Given the description of an element on the screen output the (x, y) to click on. 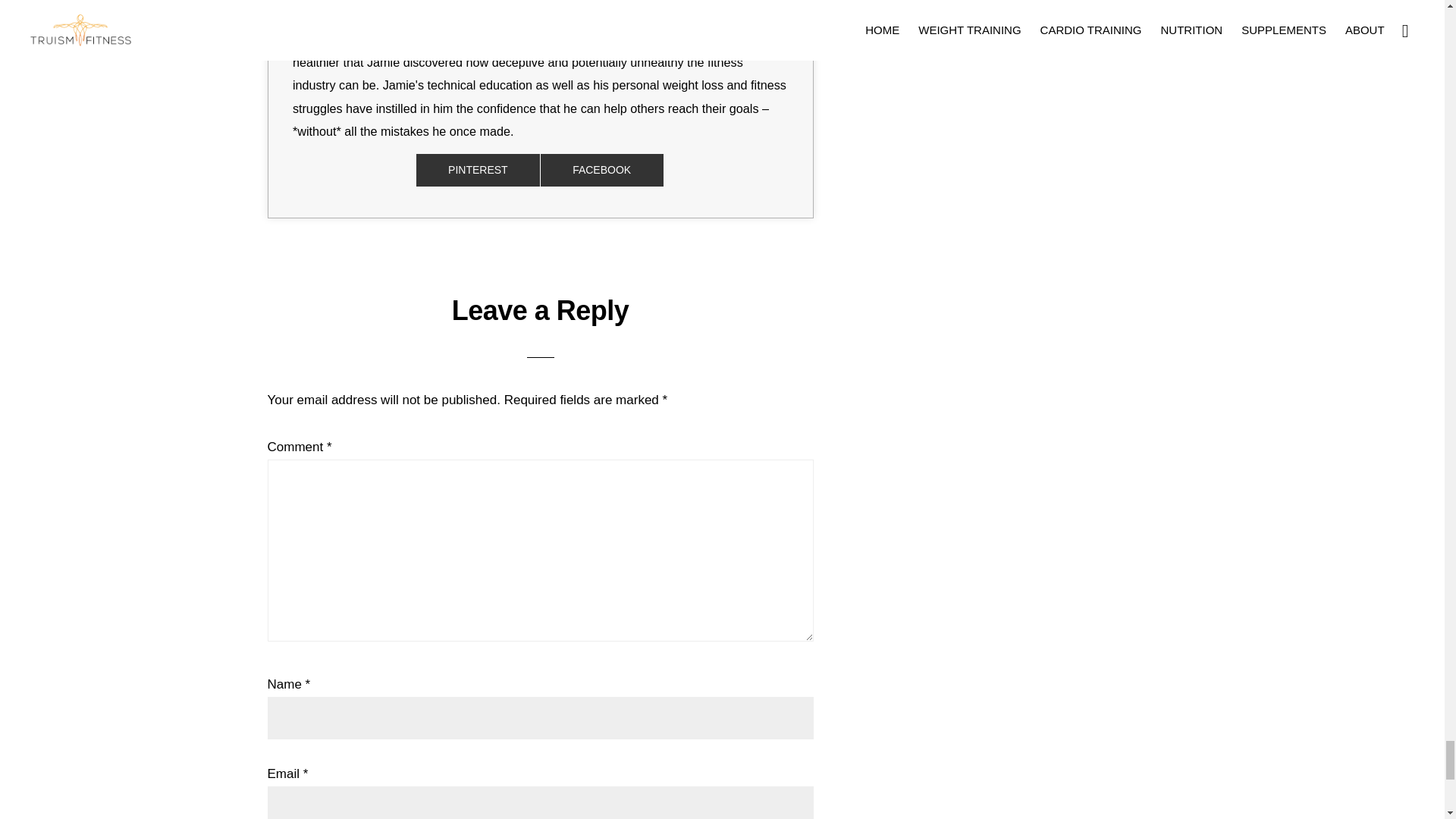
Pinterest (478, 169)
Facebook (601, 169)
